Given the description of an element on the screen output the (x, y) to click on. 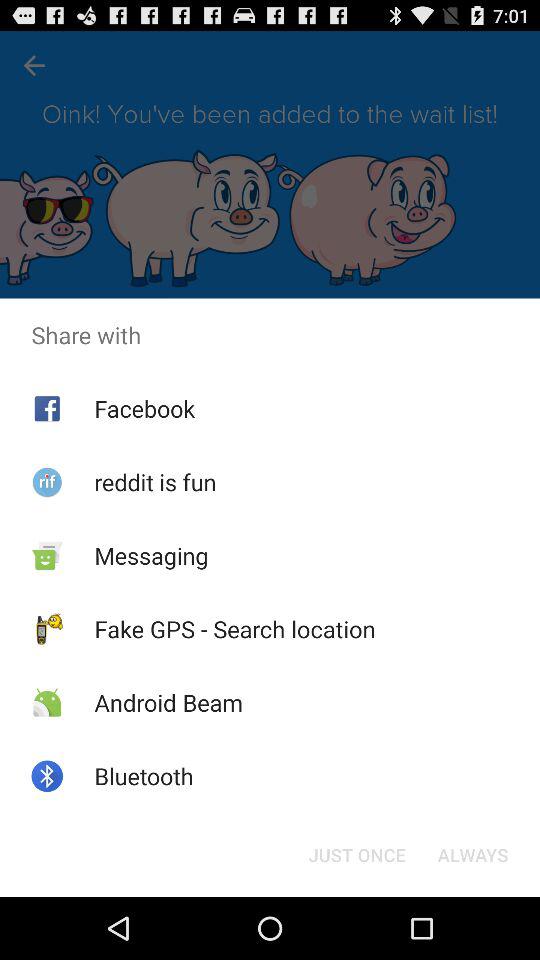
click the just once at the bottom (356, 854)
